Given the description of an element on the screen output the (x, y) to click on. 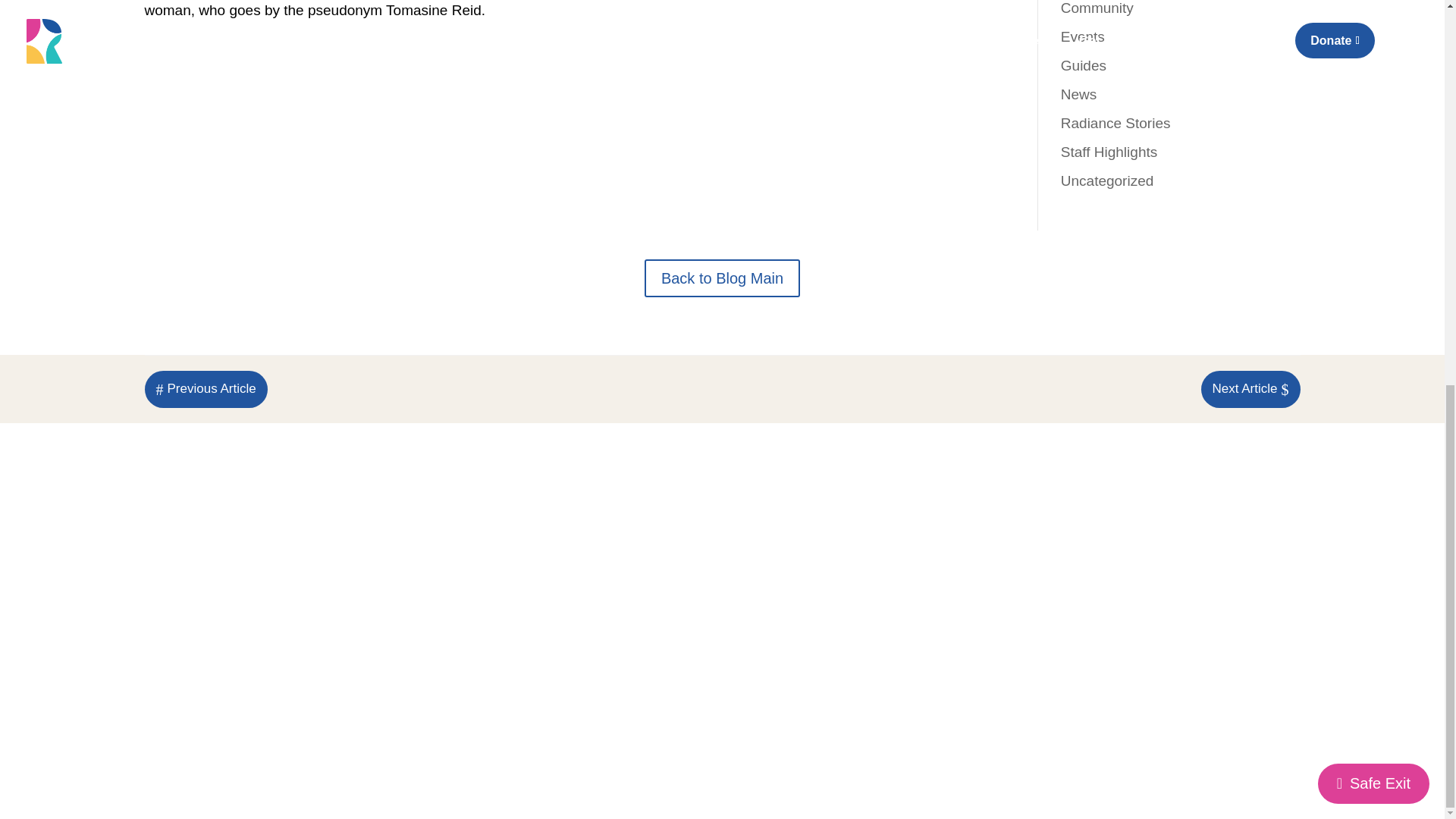
Community (1097, 7)
News (1079, 93)
Events (1083, 35)
Safe Exit (1373, 59)
Guides (1083, 64)
